Given the description of an element on the screen output the (x, y) to click on. 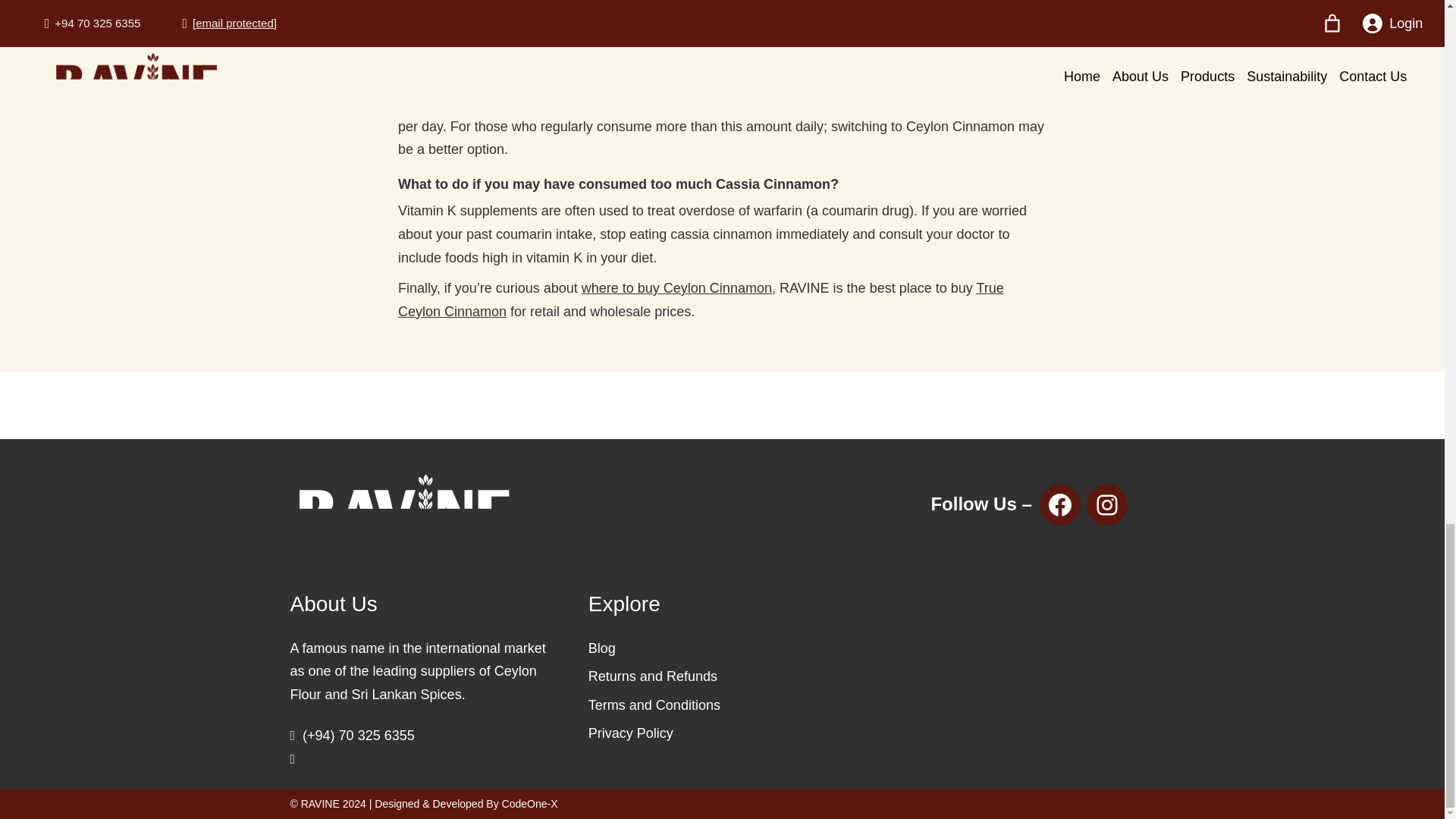
Blog (601, 648)
Returns and Refunds (652, 676)
Facebook (1059, 504)
True Ceylon Cinnamon (700, 299)
Terms and Conditions (654, 705)
Instagram (1106, 504)
Privacy Policy (630, 733)
where to buy Ceylon Cinnamon (675, 287)
